Given the description of an element on the screen output the (x, y) to click on. 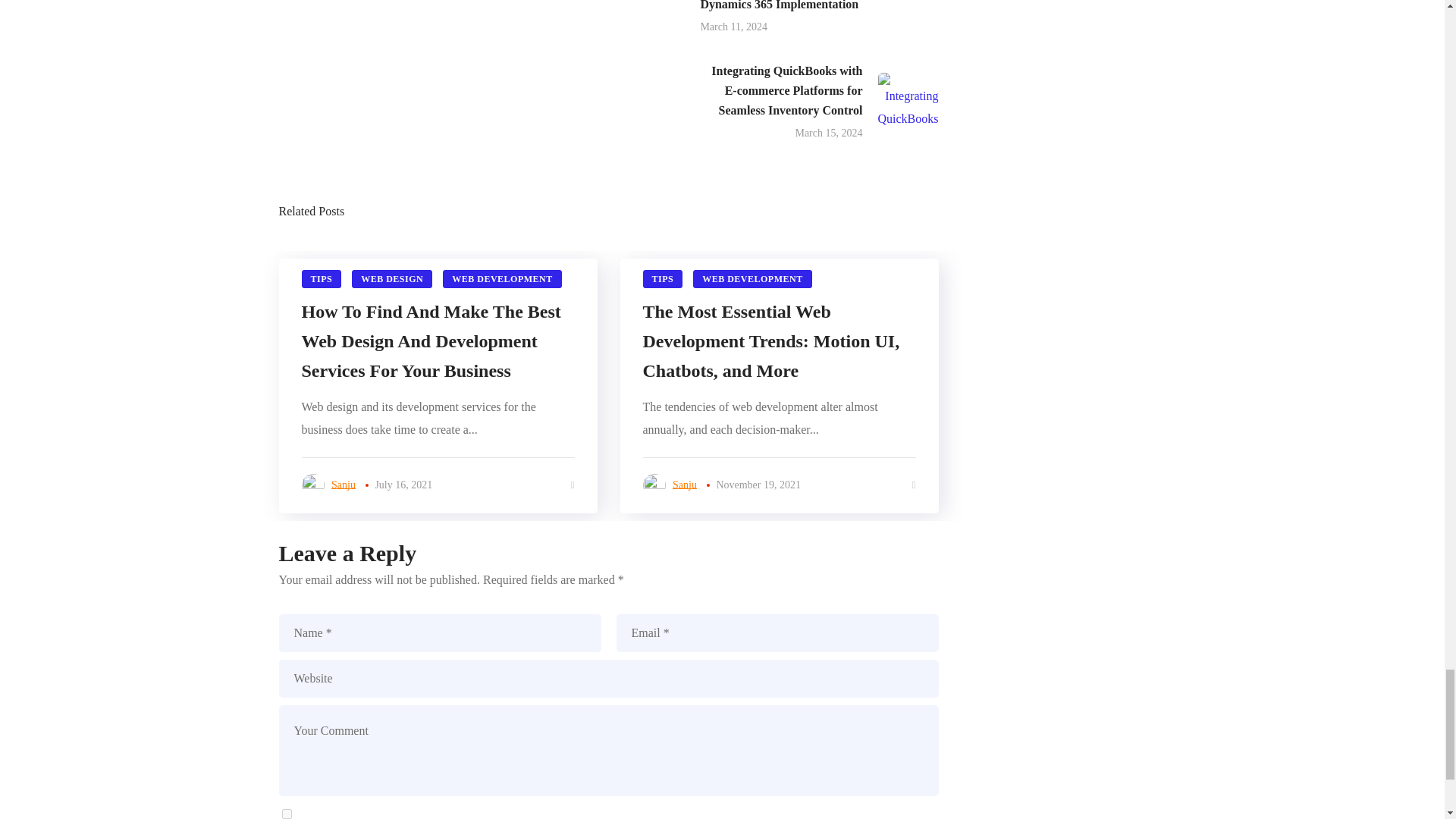
Website (609, 678)
yes (287, 814)
